Given the description of an element on the screen output the (x, y) to click on. 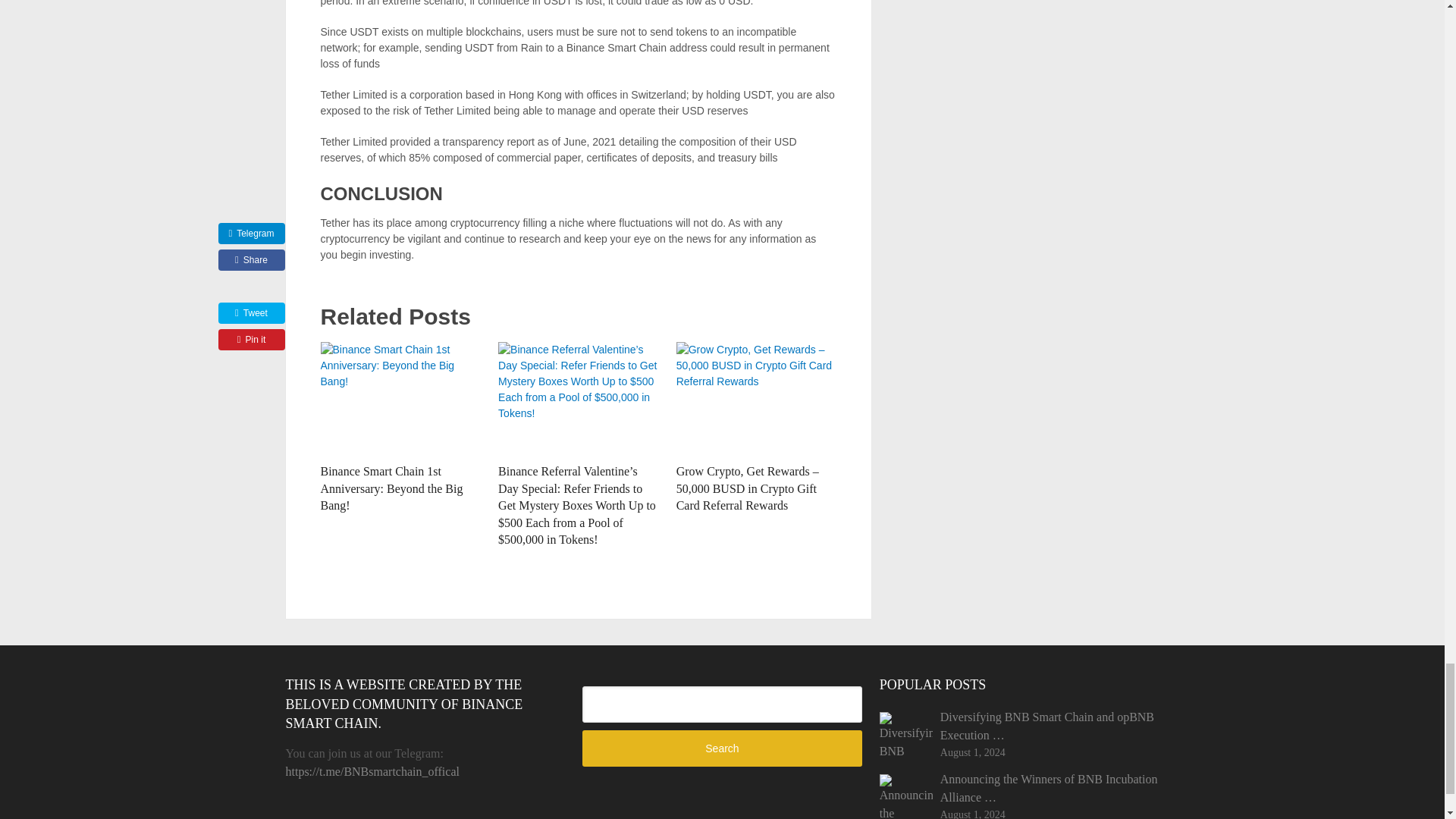
Binance Smart Chain 1st Anniversary: Beyond the Big Bang! (391, 488)
Binance Smart Chain 1st Anniversary: Beyond the Big Bang! (400, 398)
